Given the description of an element on the screen output the (x, y) to click on. 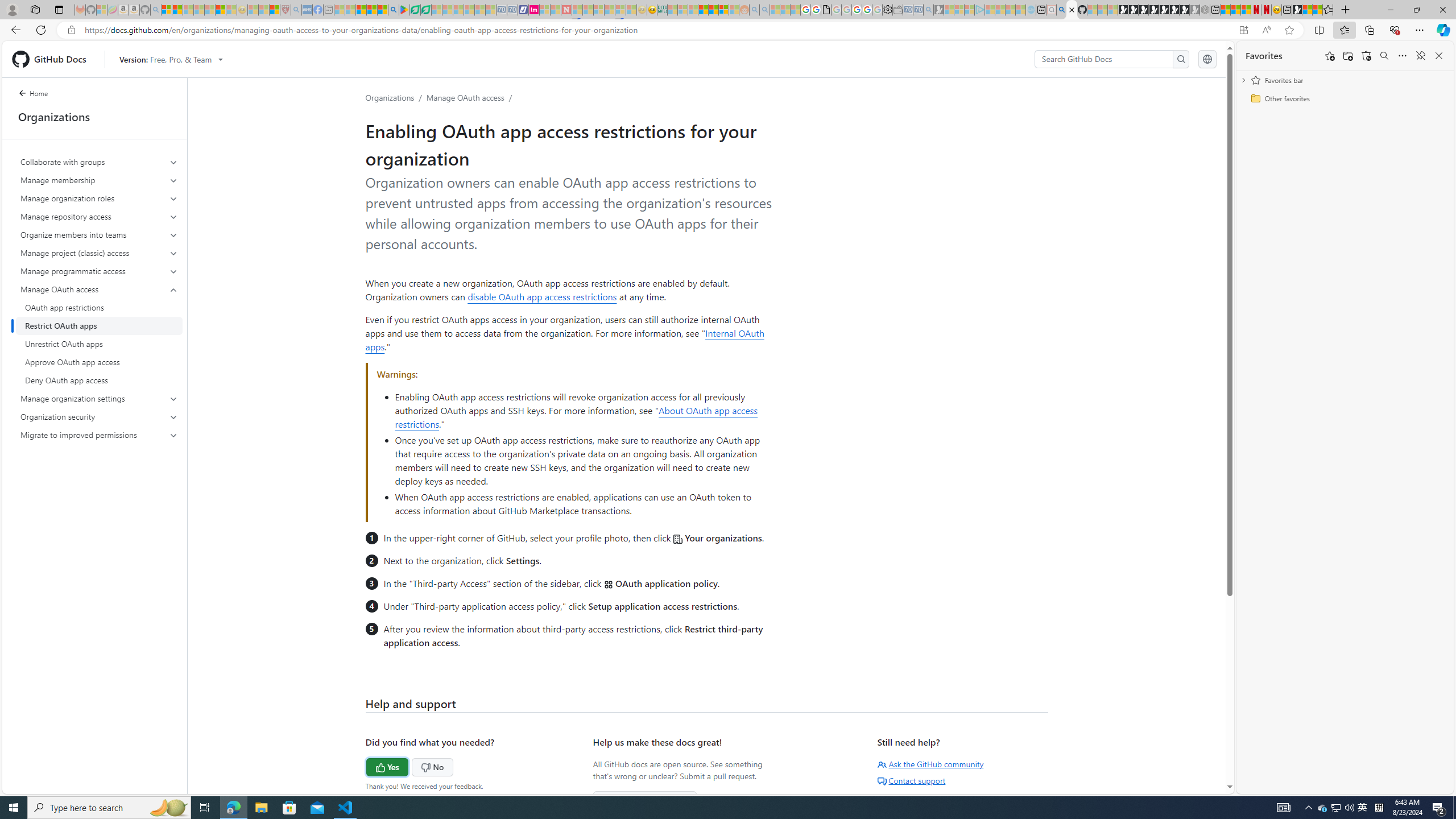
Organize members into teams (99, 235)
Deny OAuth app access (99, 380)
Bing Real Estate - Home sales and rental listings - Sleeping (928, 9)
About OAuth app access restrictions (576, 416)
Internal OAuth apps (564, 339)
Kinda Frugal - MSN (713, 9)
App available. Install GitHub Docs (1243, 29)
Manage project (classic) access (99, 253)
Search (1180, 58)
View site information (70, 29)
Collections (1369, 29)
Search favorites (1383, 55)
Add this page to favorites (1330, 55)
Unrestrict OAuth apps (99, 343)
